Given the description of an element on the screen output the (x, y) to click on. 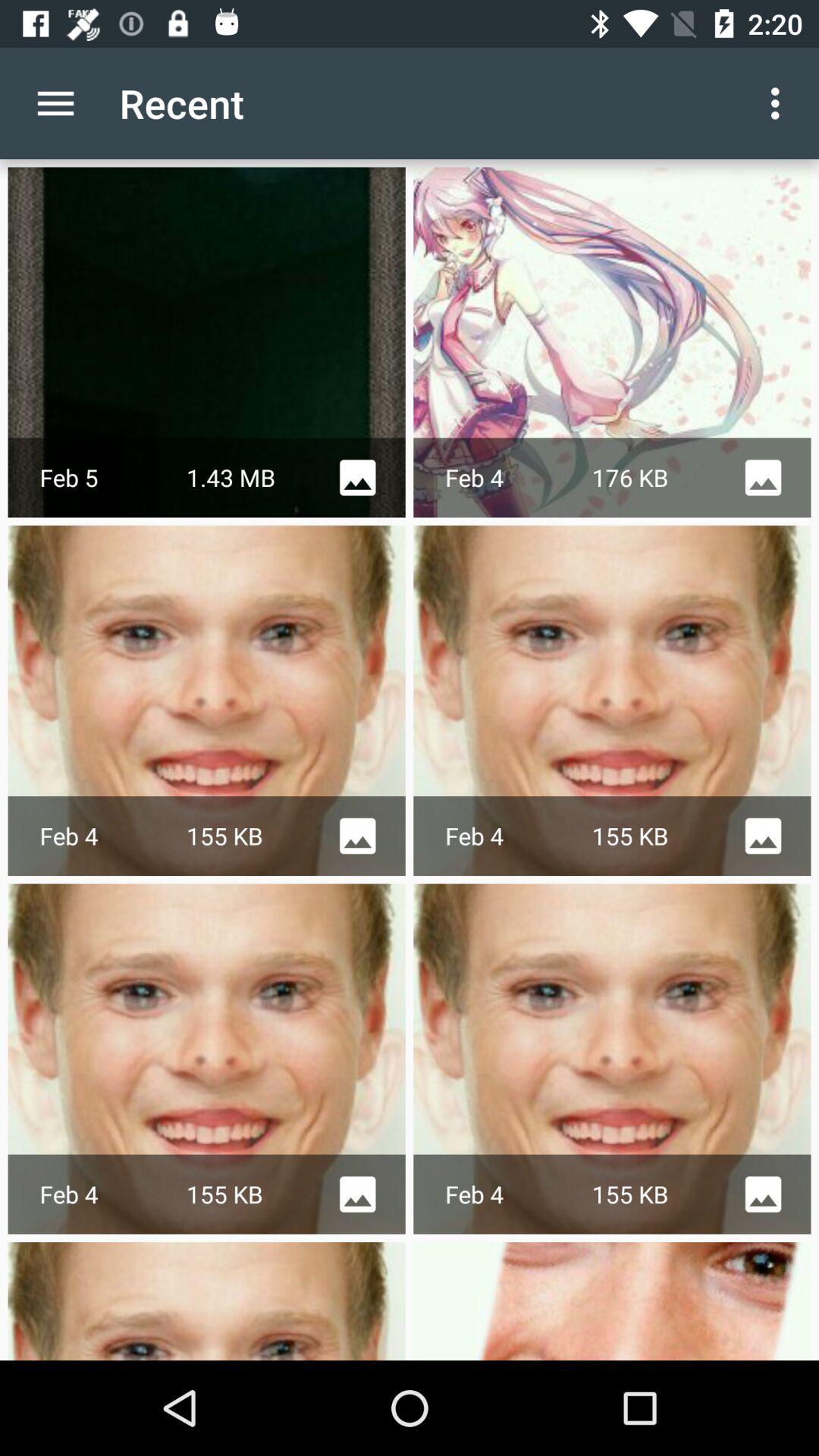
select the app next to the recent (779, 103)
